Given the description of an element on the screen output the (x, y) to click on. 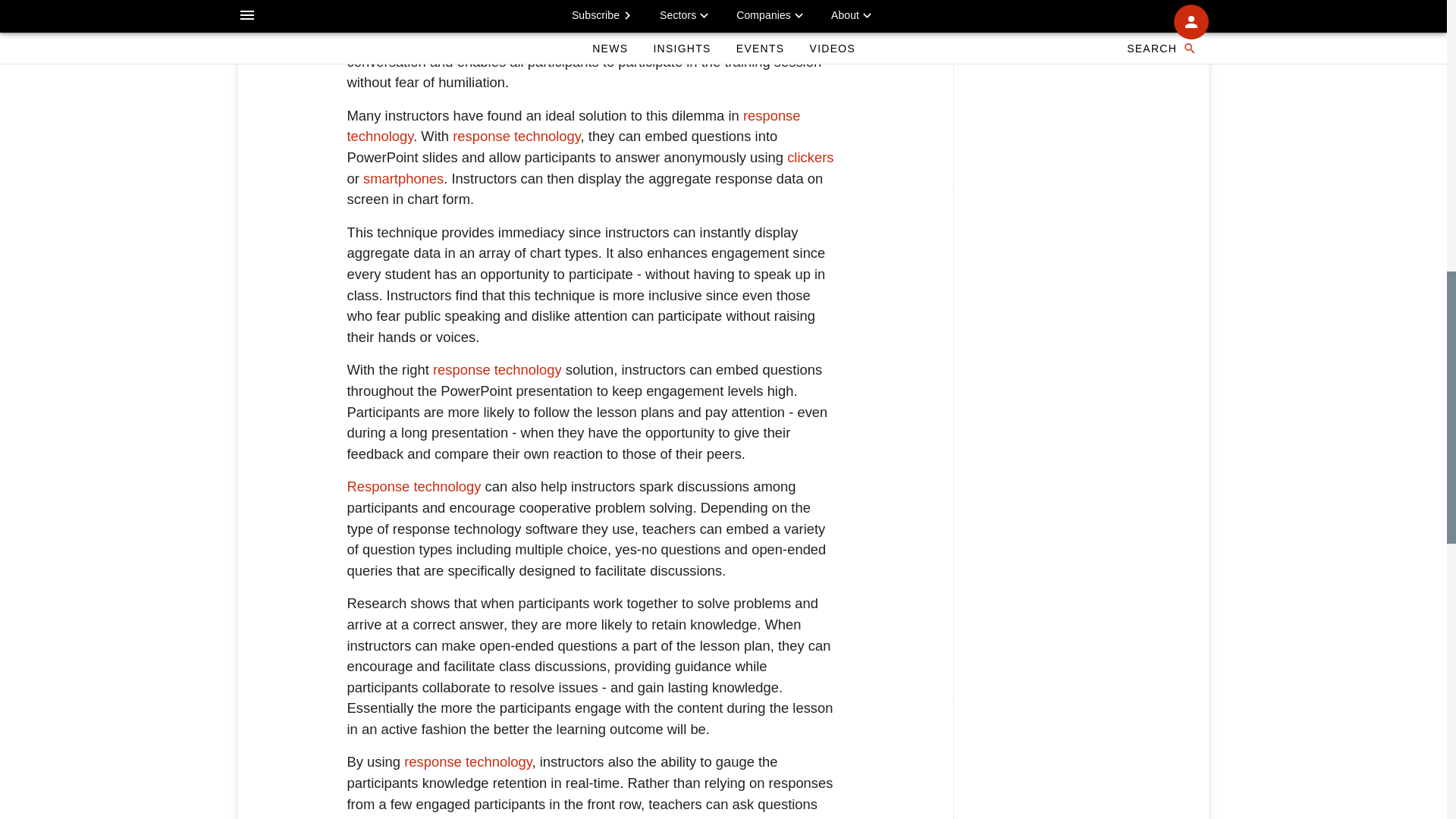
smartphones (403, 178)
Response technology (414, 486)
response technology (467, 761)
response technology (573, 125)
clickers (809, 157)
response technology (515, 135)
response technology (497, 369)
